Given the description of an element on the screen output the (x, y) to click on. 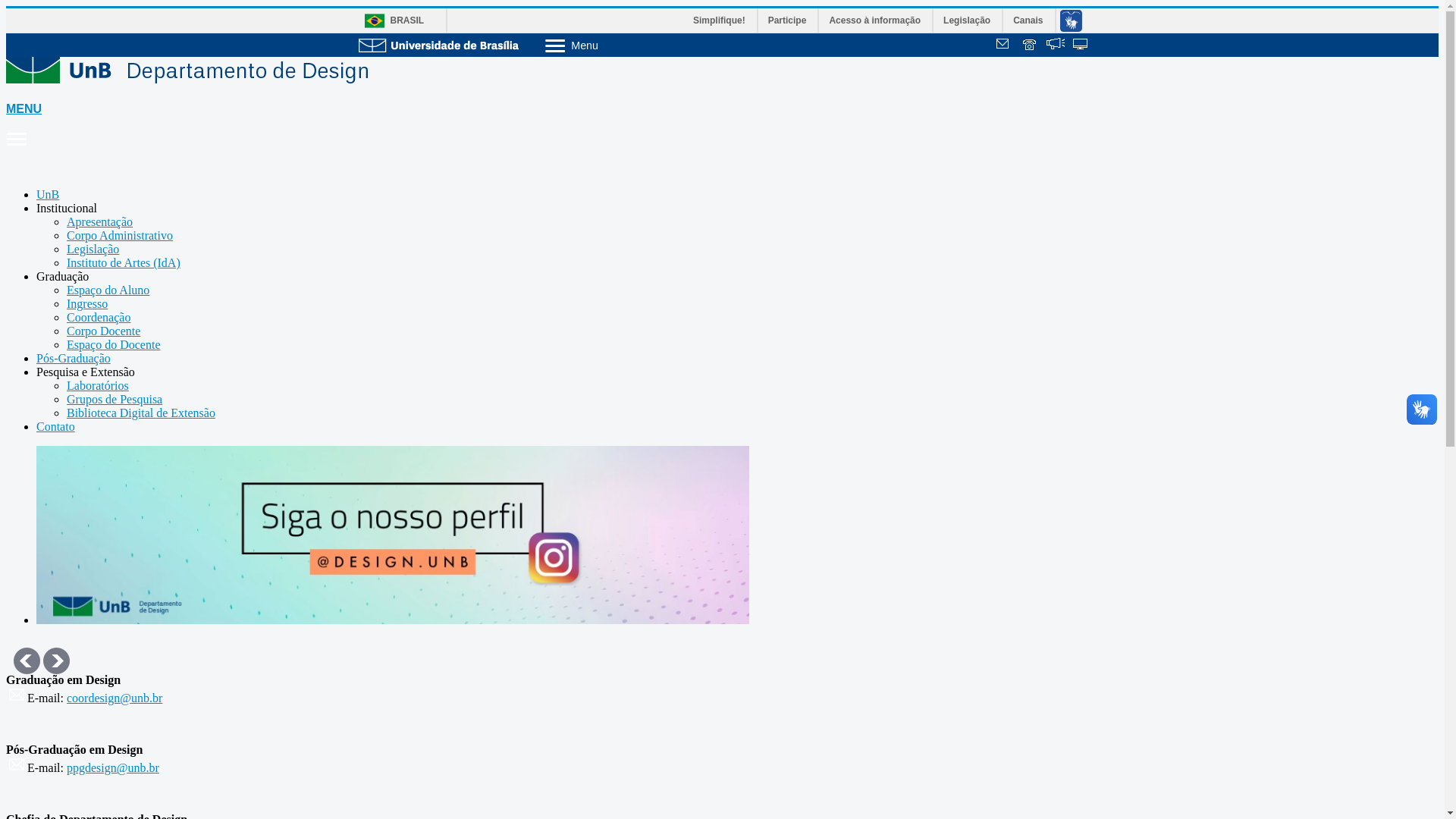
Telefones da UnB Element type: hover (1030, 45)
Contato Element type: text (55, 426)
  Element type: text (1030, 45)
UnB Element type: text (47, 194)
Participe Element type: text (788, 20)
MENU Element type: text (722, 124)
  Element type: text (1081, 45)
Simplifique! Element type: text (719, 20)
Webmail Element type: hover (1004, 45)
Ingresso Element type: text (86, 303)
  Element type: text (1055, 45)
Corpo Docente Element type: text (103, 330)
Grupos de Pesquisa Element type: text (114, 398)
Sistemas Element type: hover (1081, 45)
  Element type: text (1004, 45)
coordesign@unb.br Element type: text (114, 697)
Fala.BR Element type: hover (1055, 45)
ppgdesign@unb.br Element type: text (112, 767)
Corpo Administrativo Element type: text (119, 235)
Ir para o Portal da UnB Element type: hover (438, 44)
BRASIL Element type: text (389, 20)
Menu Element type: text (610, 44)
Instituto de Artes (IdA) Element type: text (123, 262)
Canais Element type: text (1028, 20)
